Given the description of an element on the screen output the (x, y) to click on. 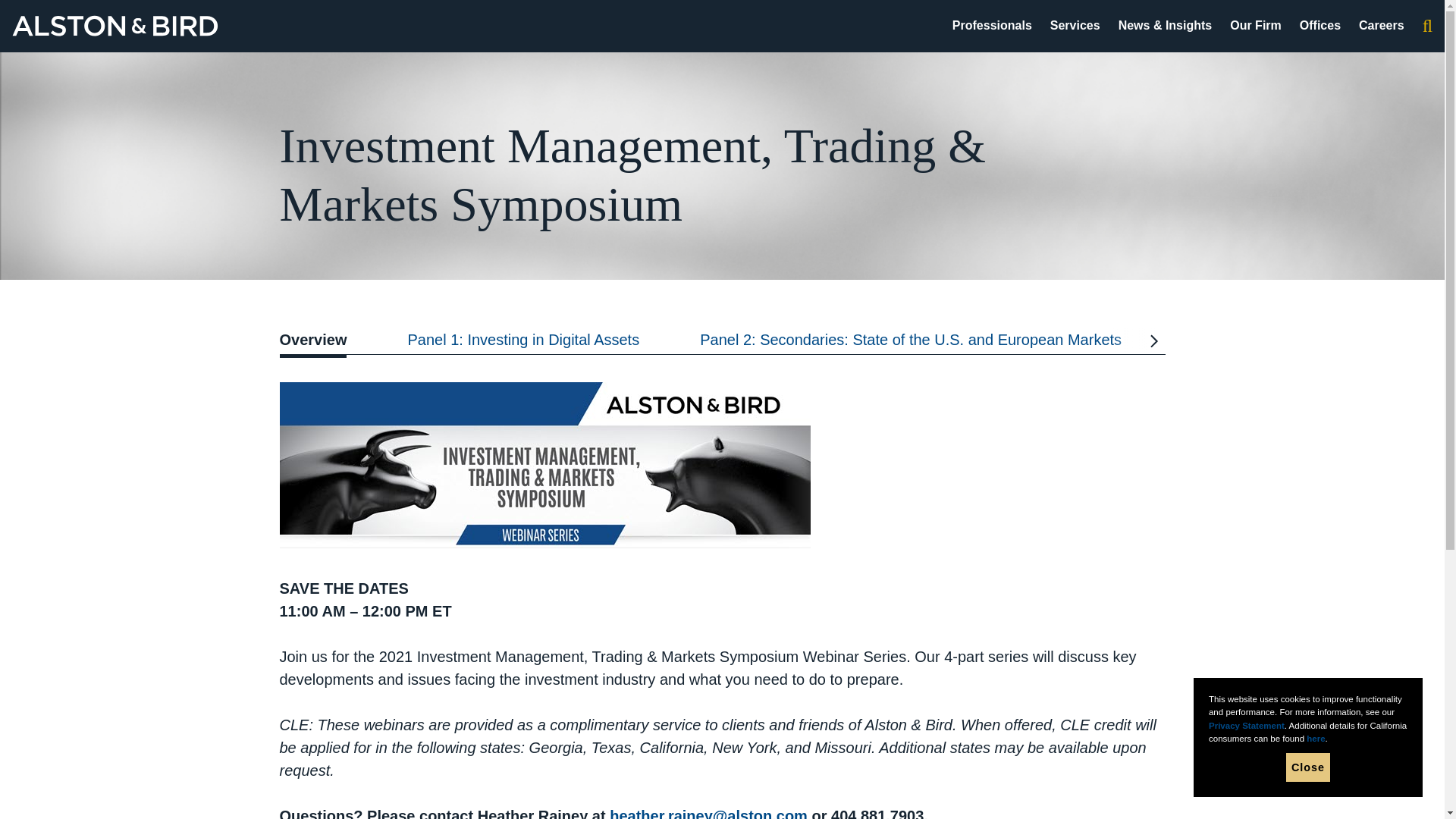
Close (1307, 767)
Professionals (992, 24)
Services (1074, 24)
Careers (1381, 24)
Overview (328, 342)
Our Firm (1255, 24)
Panel 1: Investing in Digital Assets (523, 342)
Panel 2: Secondaries: State of the U.S. and European Markets (910, 342)
Offices (1320, 24)
